Given the description of an element on the screen output the (x, y) to click on. 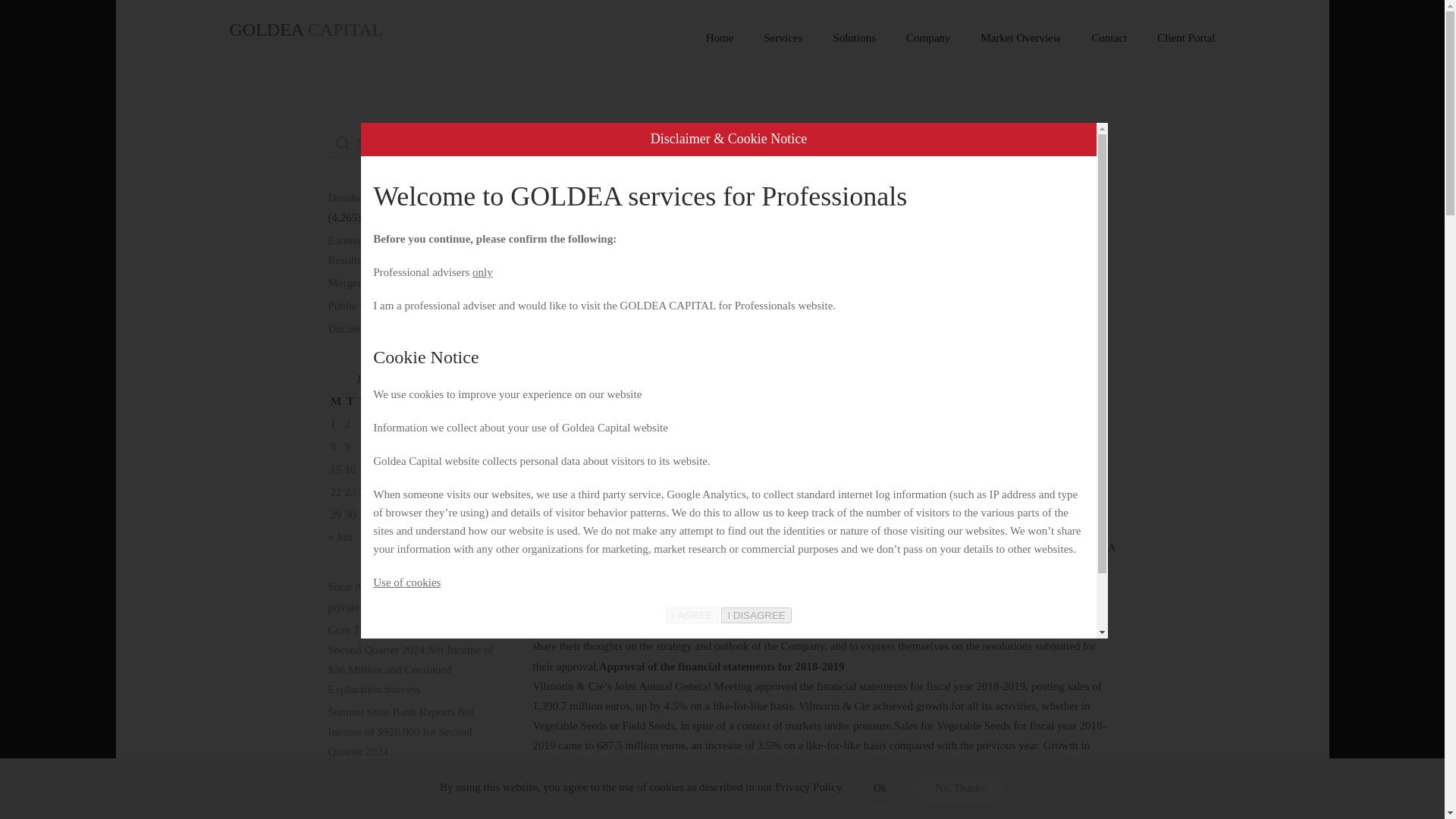
Solutions (853, 38)
Customer Service (738, 384)
Mergers And Acquisitions (386, 282)
Services (783, 38)
I DISAGREE (755, 615)
Earnings Releases And Operating Results (403, 250)
Public Companies (955, 384)
Client Portal (1185, 38)
Public Companies (368, 305)
Public Companies (679, 139)
Company (928, 38)
Dividend Reports And Estimates (402, 197)
Journal (601, 139)
Market Overview (1020, 38)
Uncategorized (360, 328)
